Given the description of an element on the screen output the (x, y) to click on. 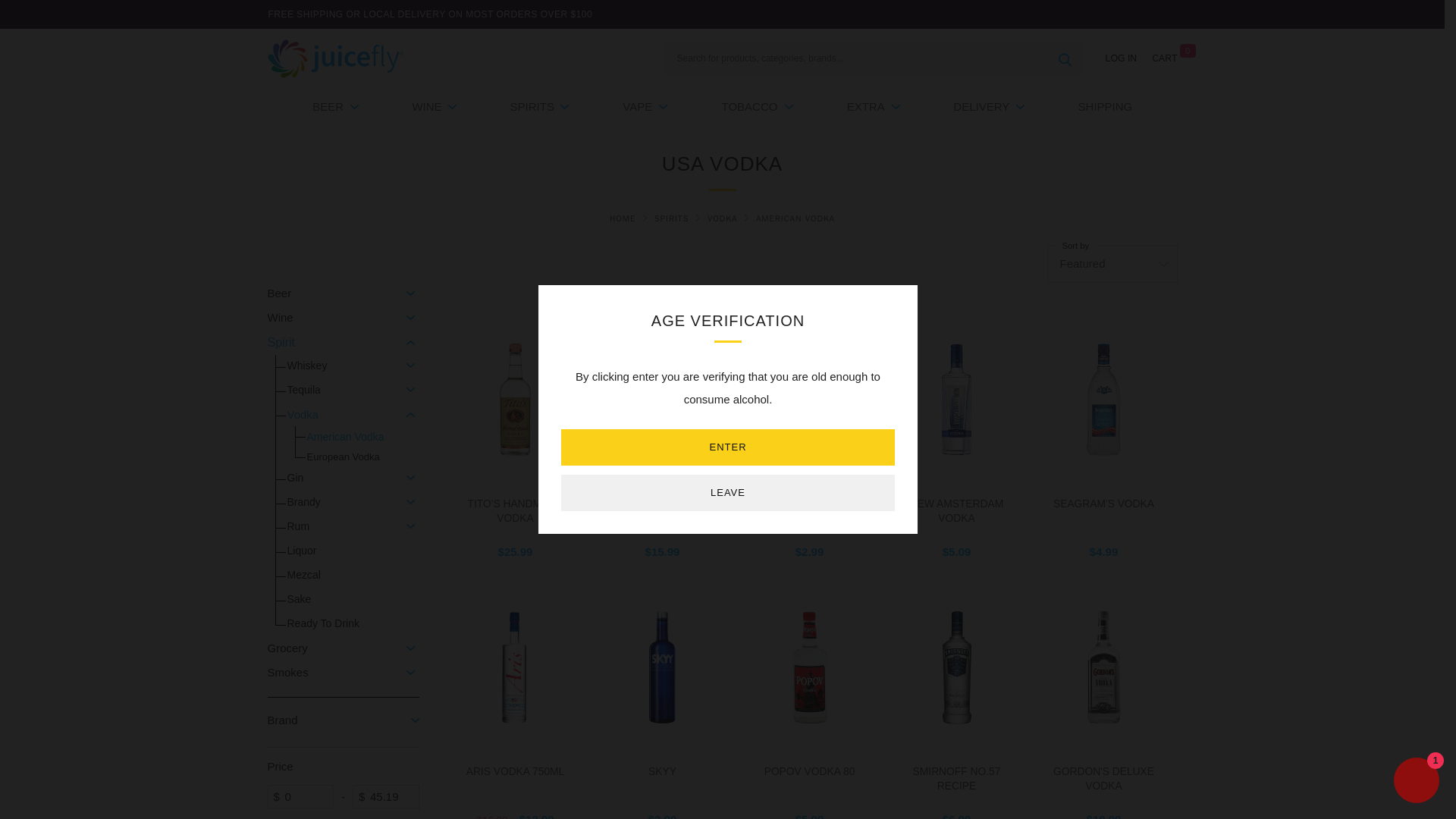
Beer (362, 106)
Wine (460, 106)
LEAVE (727, 493)
0 (299, 796)
45.19 (385, 796)
ENTER (727, 447)
